Given the description of an element on the screen output the (x, y) to click on. 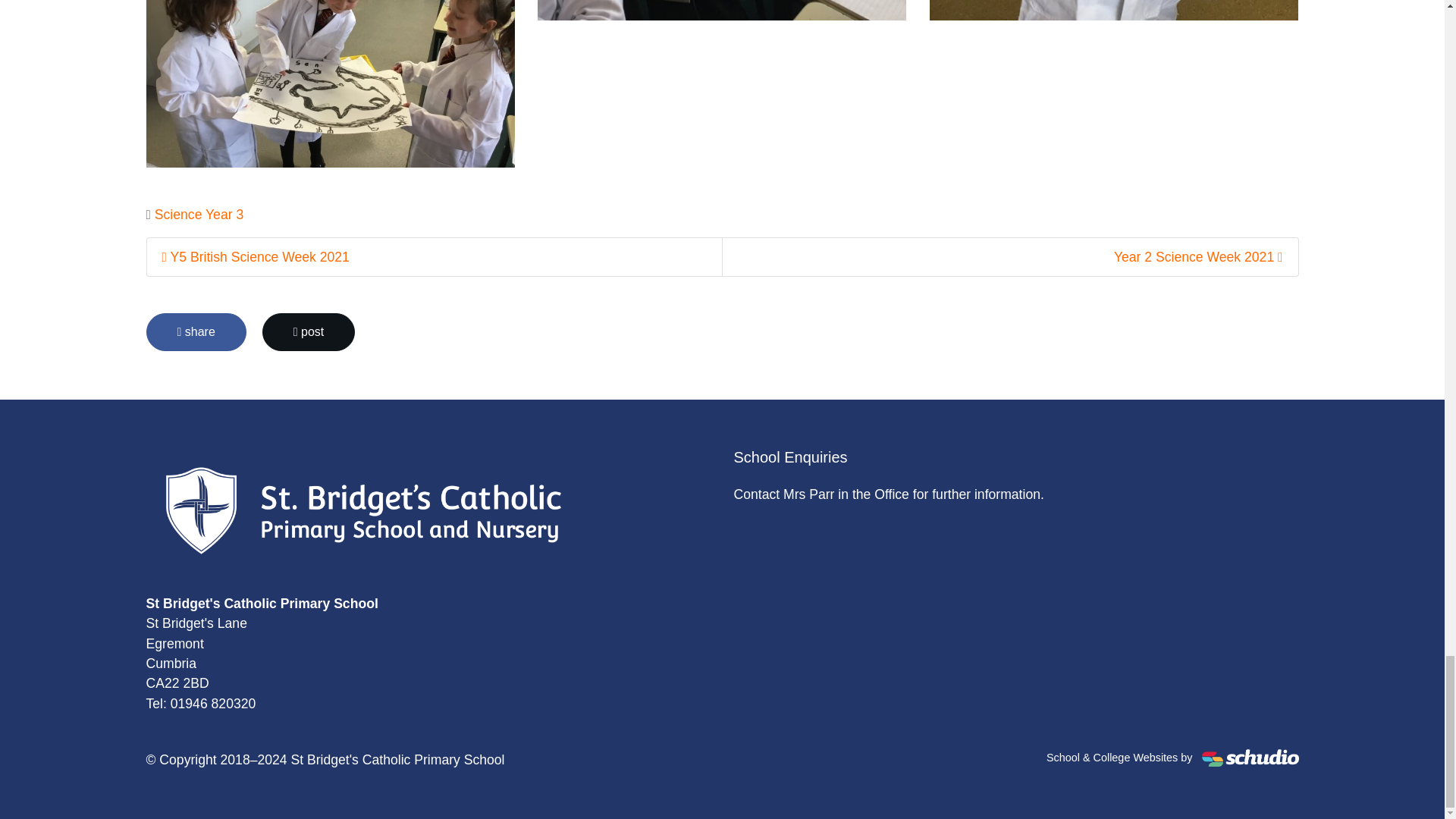
Post on X (308, 331)
Share on Facebook (195, 331)
